Given the description of an element on the screen output the (x, y) to click on. 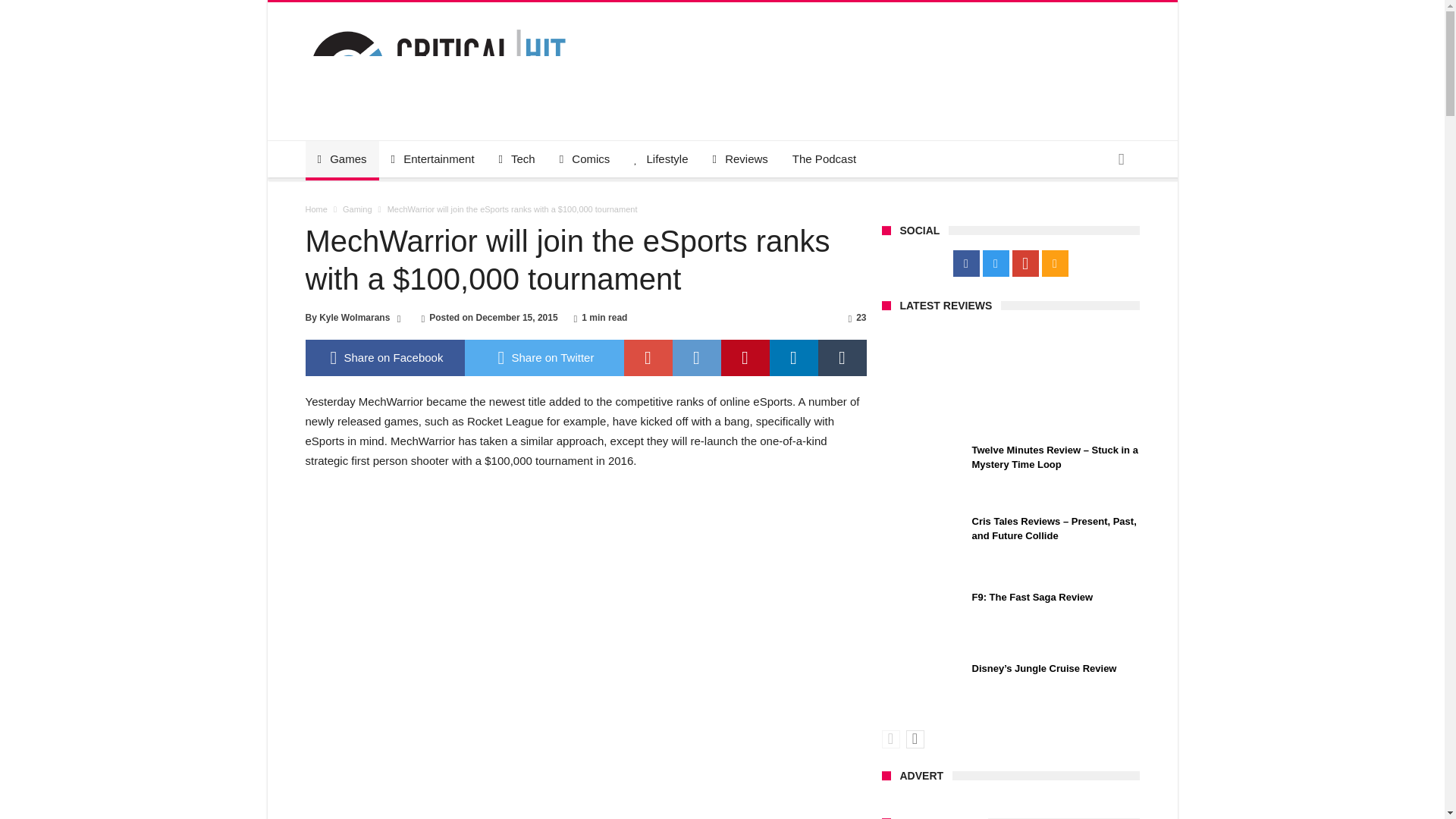
Entertainment (432, 158)
Lifestyle (660, 158)
Share on Facebook (384, 357)
reddit (695, 357)
Share on Linkedin (792, 357)
twitter (543, 357)
Games (341, 158)
Share on Reddit (695, 357)
Kyle Wolmarans (354, 317)
Share on Pinterest (744, 357)
